Given the description of an element on the screen output the (x, y) to click on. 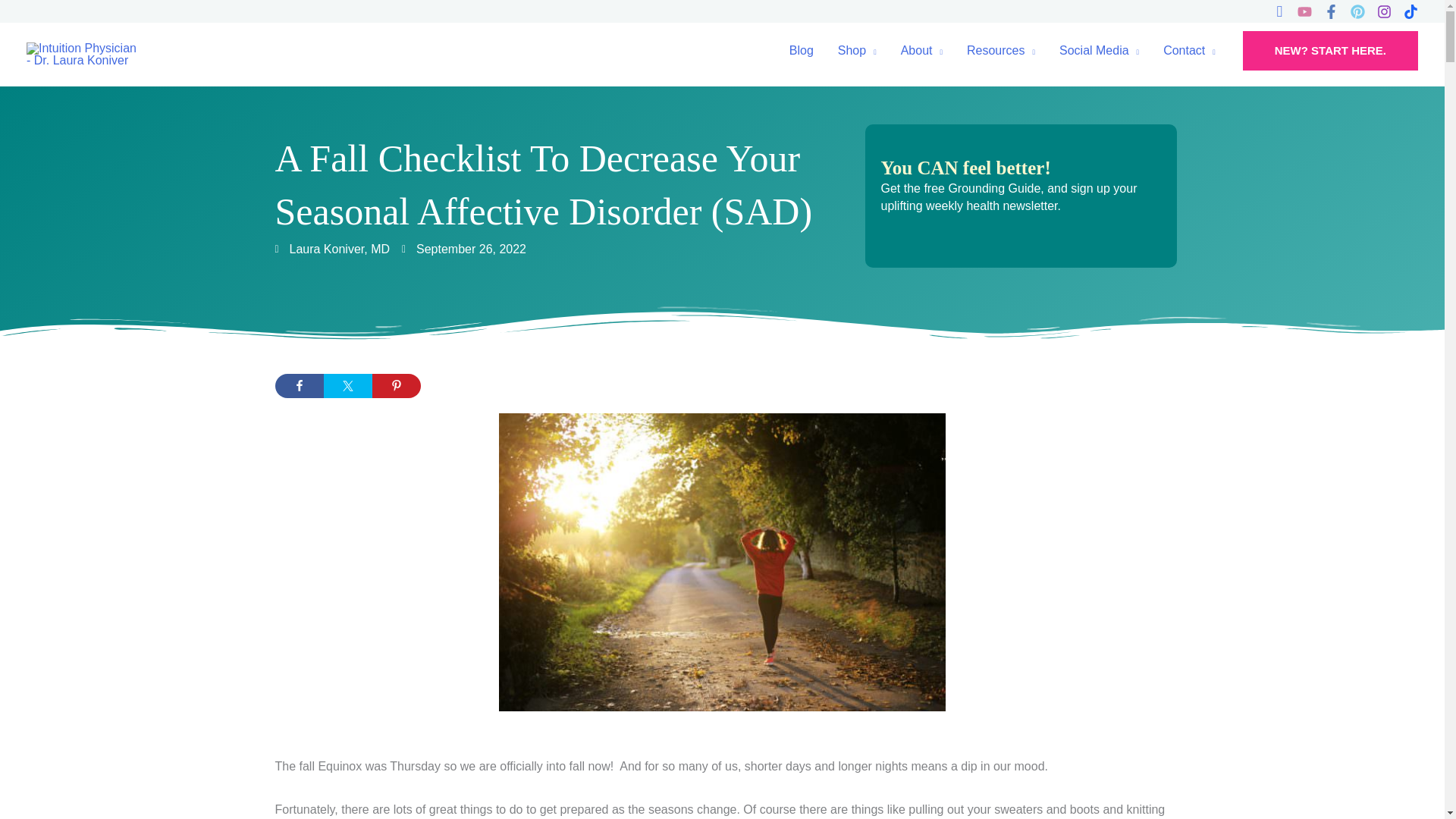
Share on Pinterest (395, 385)
Home (1000, 50)
Share on Facebook (299, 385)
Social Media (1098, 50)
Shop (856, 50)
Share on Twitter (347, 385)
About (921, 50)
Resources (1000, 50)
Blog (801, 50)
